Given the description of an element on the screen output the (x, y) to click on. 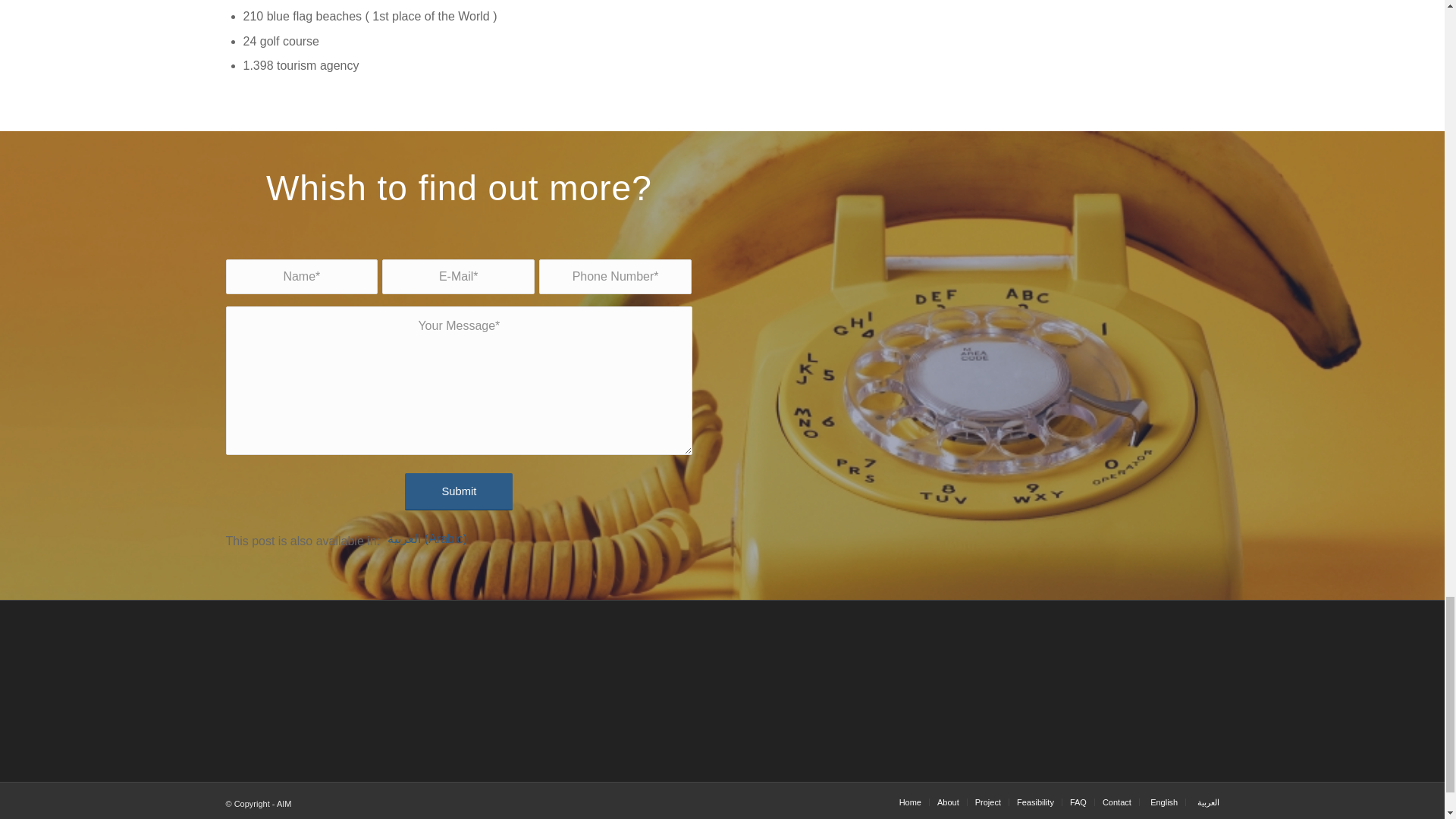
Submit (458, 491)
FAQ (1078, 801)
Project (988, 801)
About (948, 801)
Home (910, 801)
Contact (1116, 801)
Submit (458, 491)
English (1162, 801)
Feasibility (1035, 801)
